Given the description of an element on the screen output the (x, y) to click on. 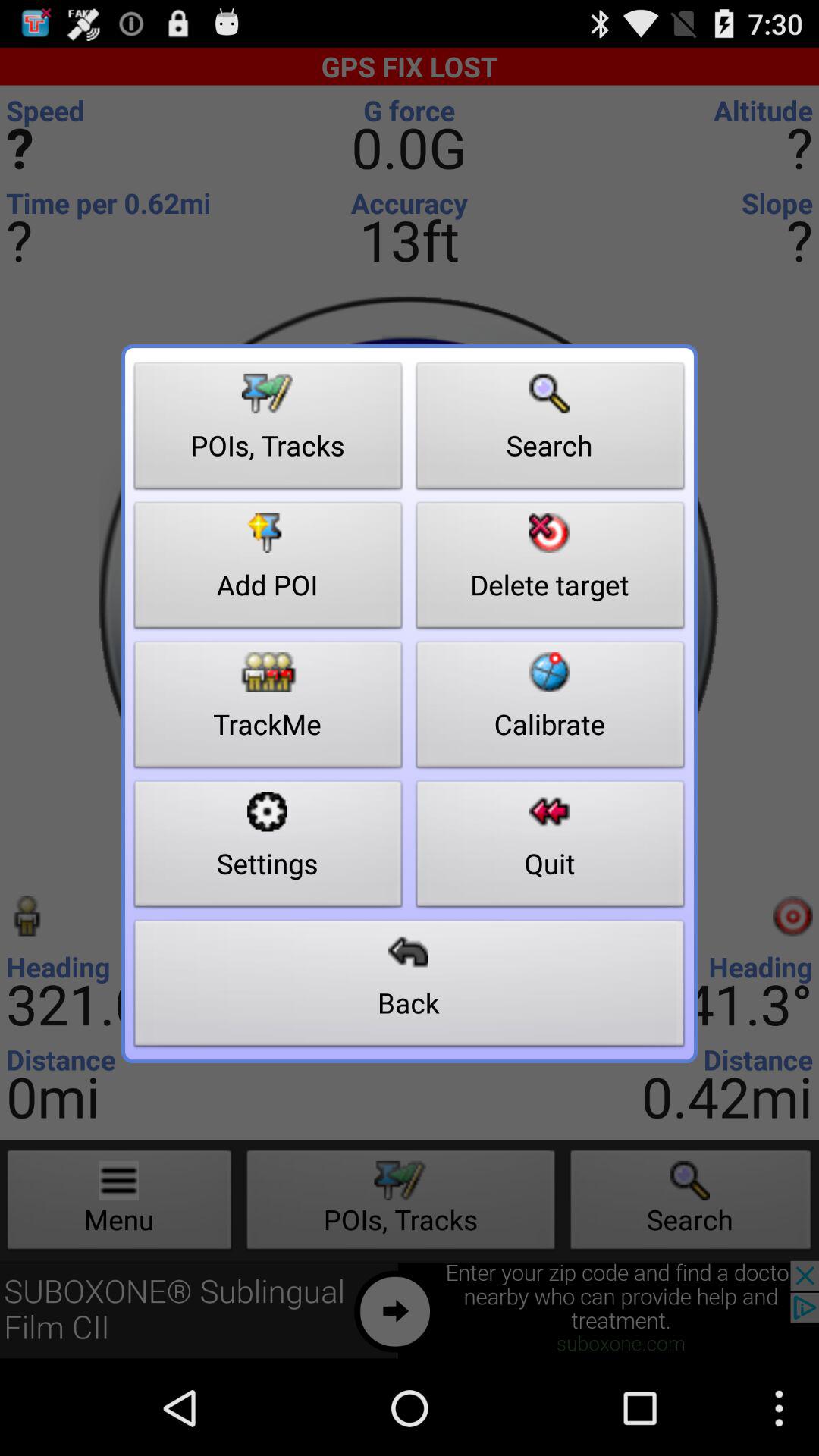
press item to the left of search (268, 429)
